Given the description of an element on the screen output the (x, y) to click on. 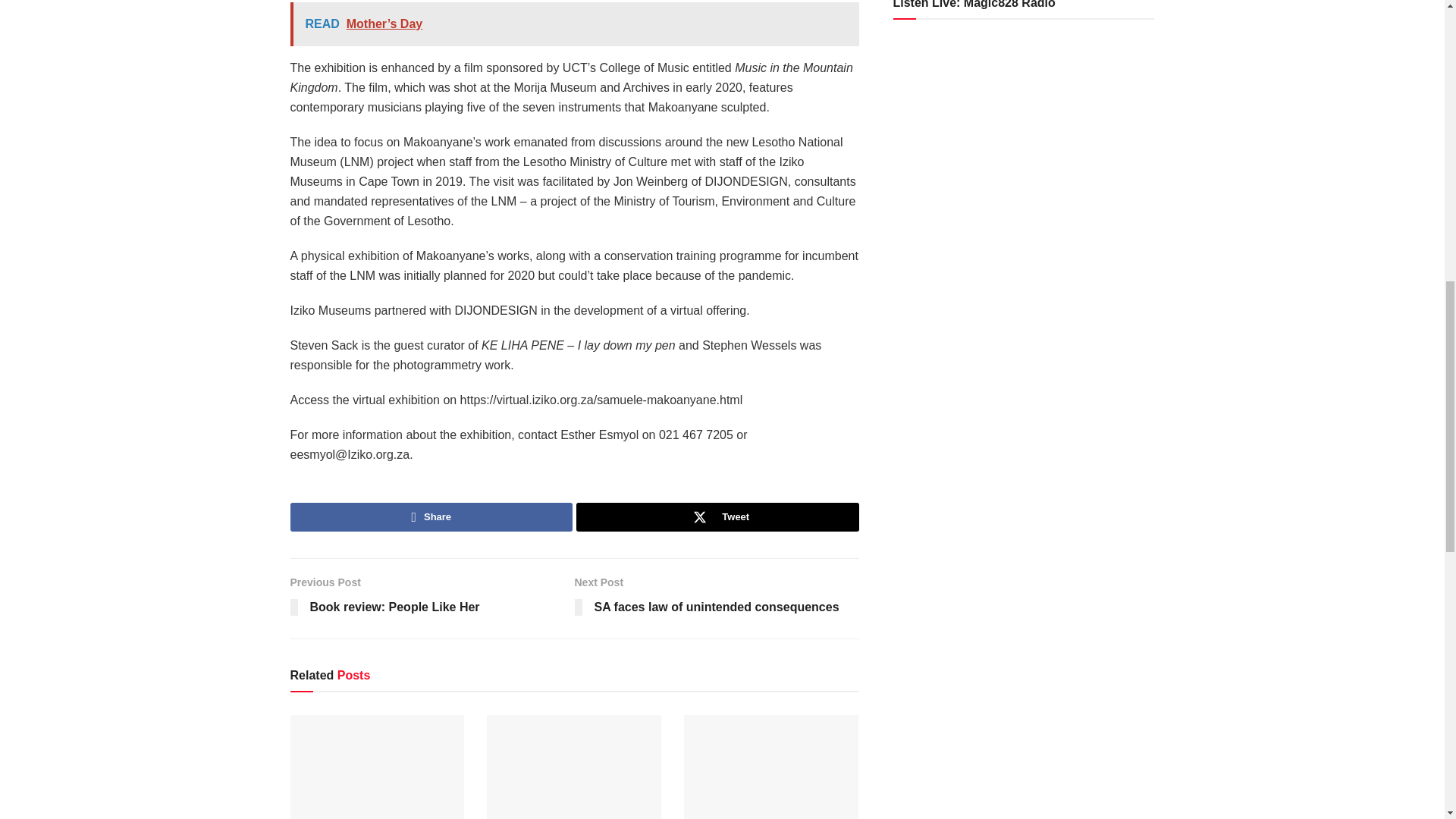
Share (430, 516)
